Given the description of an element on the screen output the (x, y) to click on. 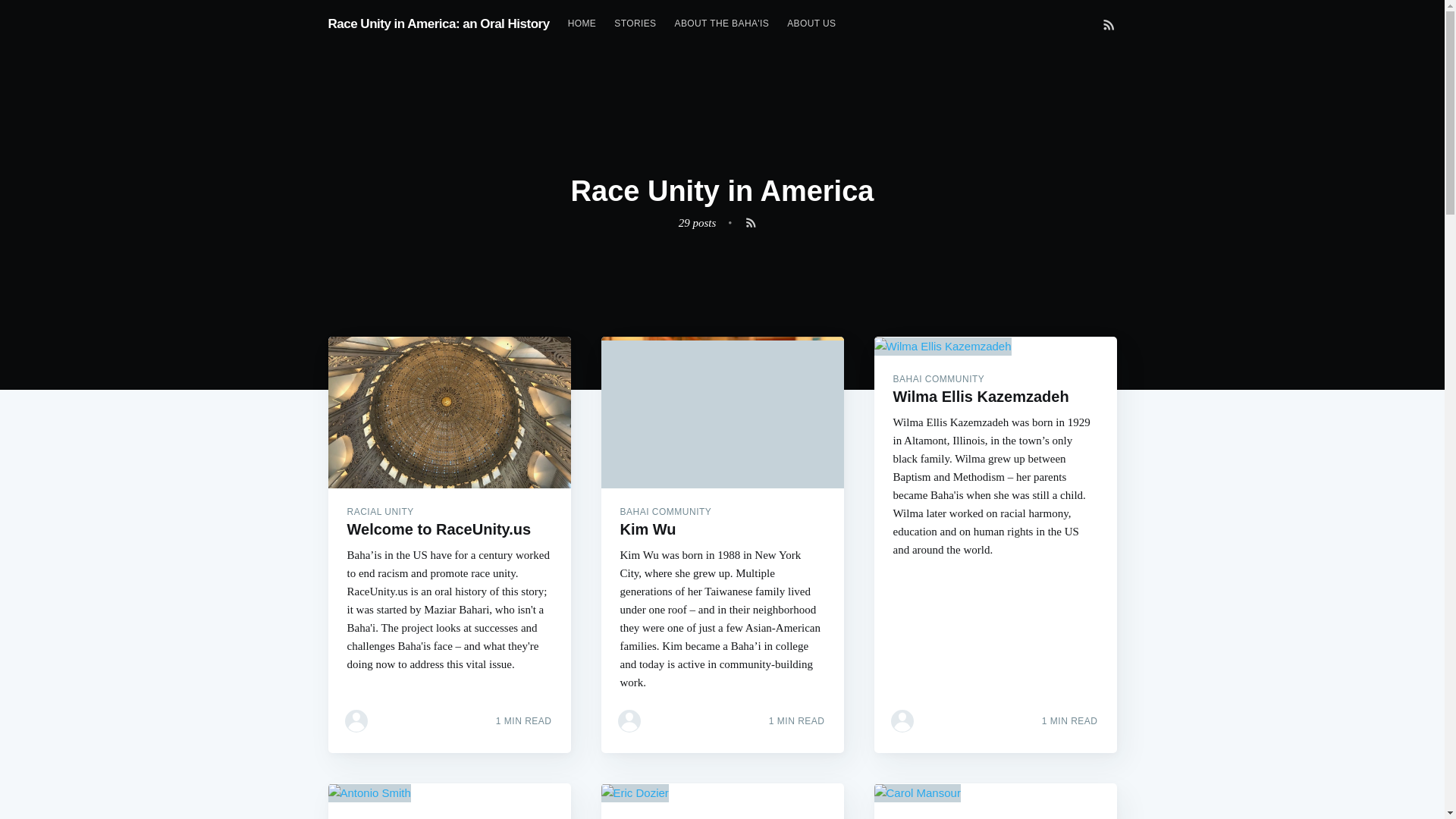
HOME (582, 23)
Race Unity in America: an Oral History (437, 23)
ABOUT US (810, 23)
STORIES (635, 23)
ABOUT THE BAHA'IS (721, 23)
